Given the description of an element on the screen output the (x, y) to click on. 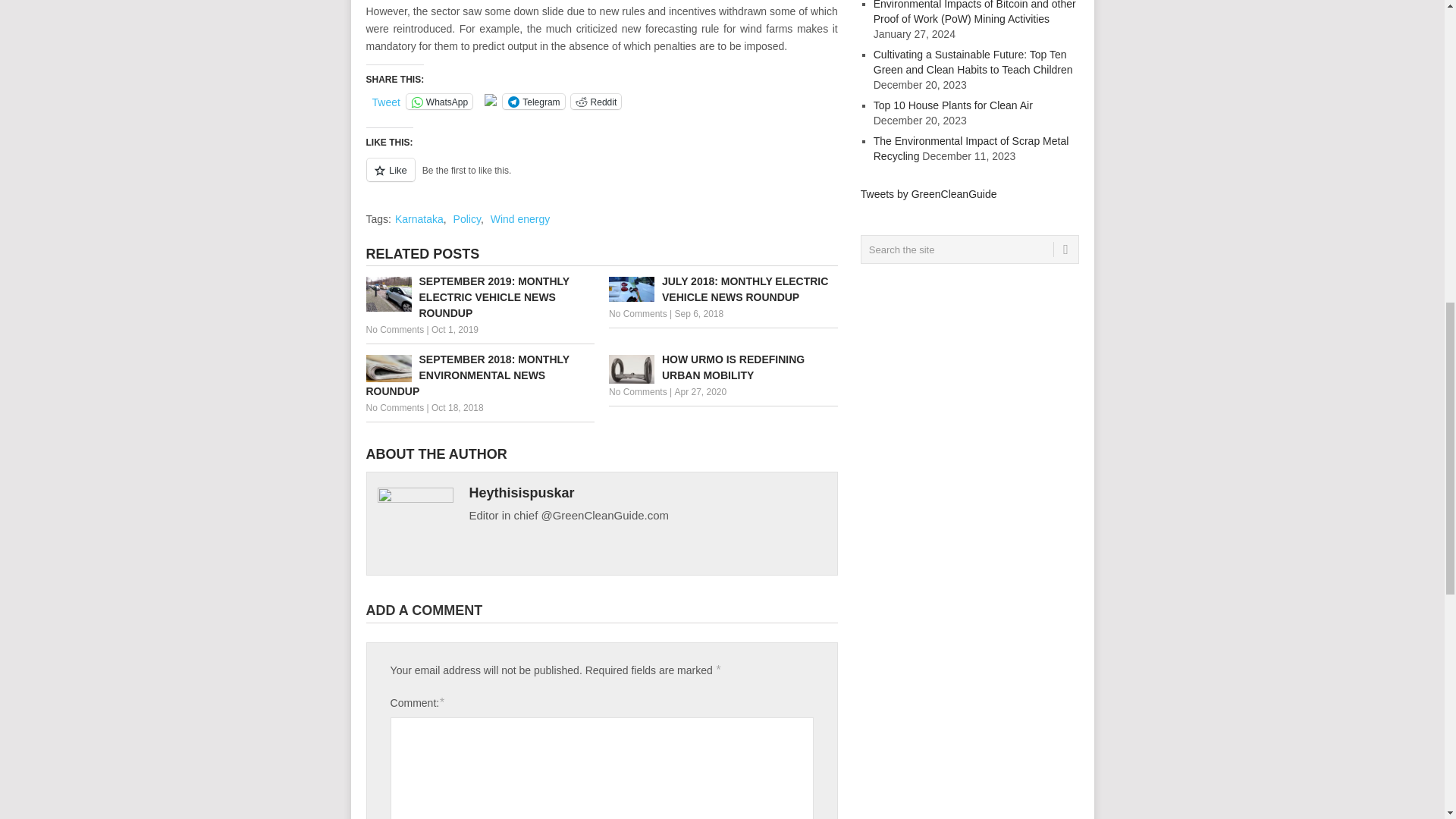
Reddit (595, 101)
Click to share on Reddit (595, 101)
Search the site (969, 249)
Karnataka (419, 218)
WhatsApp (438, 101)
Policy (466, 218)
September 2019: Monthly Electric Vehicle News Roundup (479, 297)
Wind energy (520, 218)
Telegram (533, 101)
Like or Reblog (601, 178)
